Given the description of an element on the screen output the (x, y) to click on. 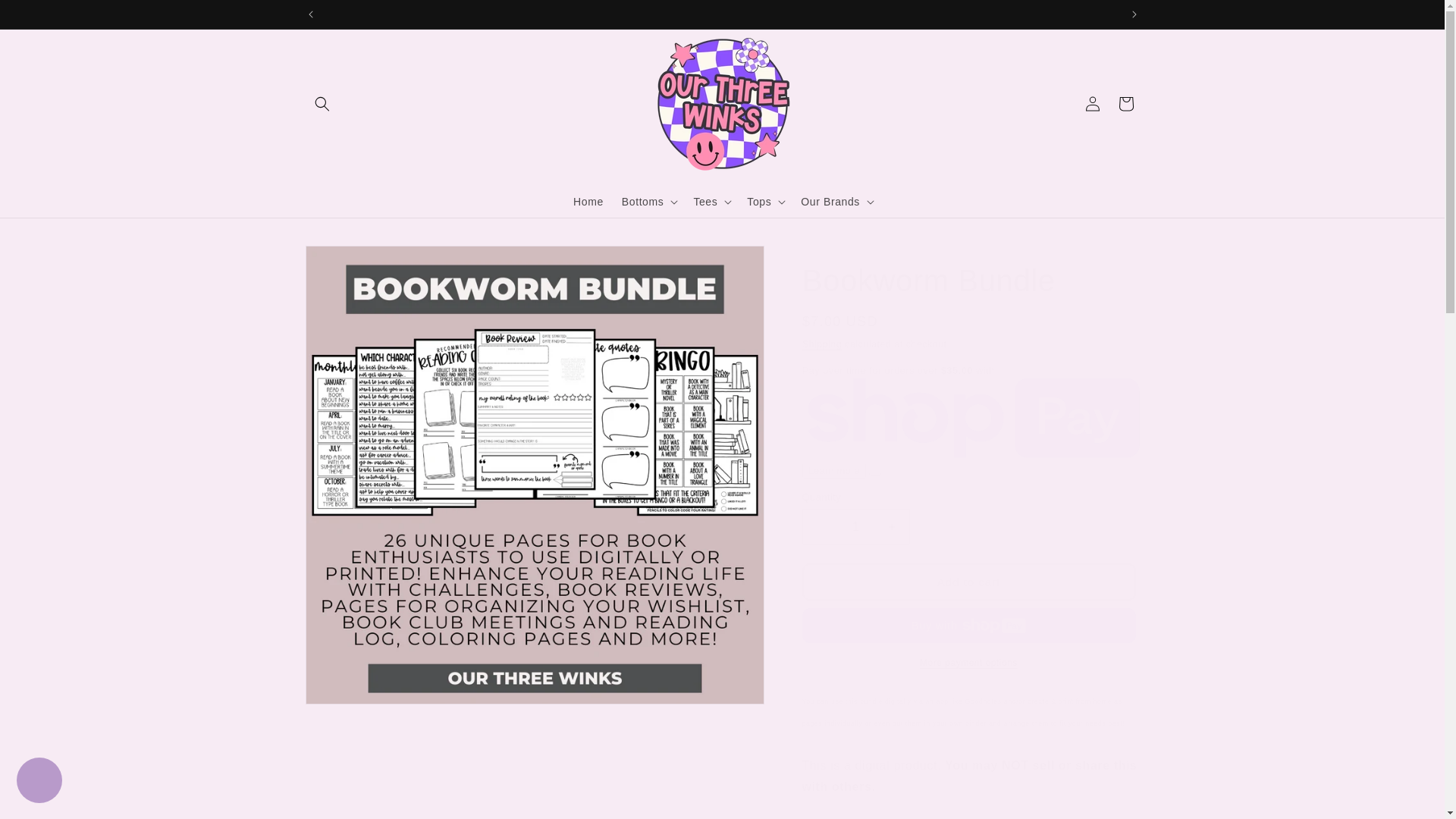
Skip to content (46, 18)
1 (856, 526)
Shopify online store chat (38, 781)
Home (588, 201)
